Given the description of an element on the screen output the (x, y) to click on. 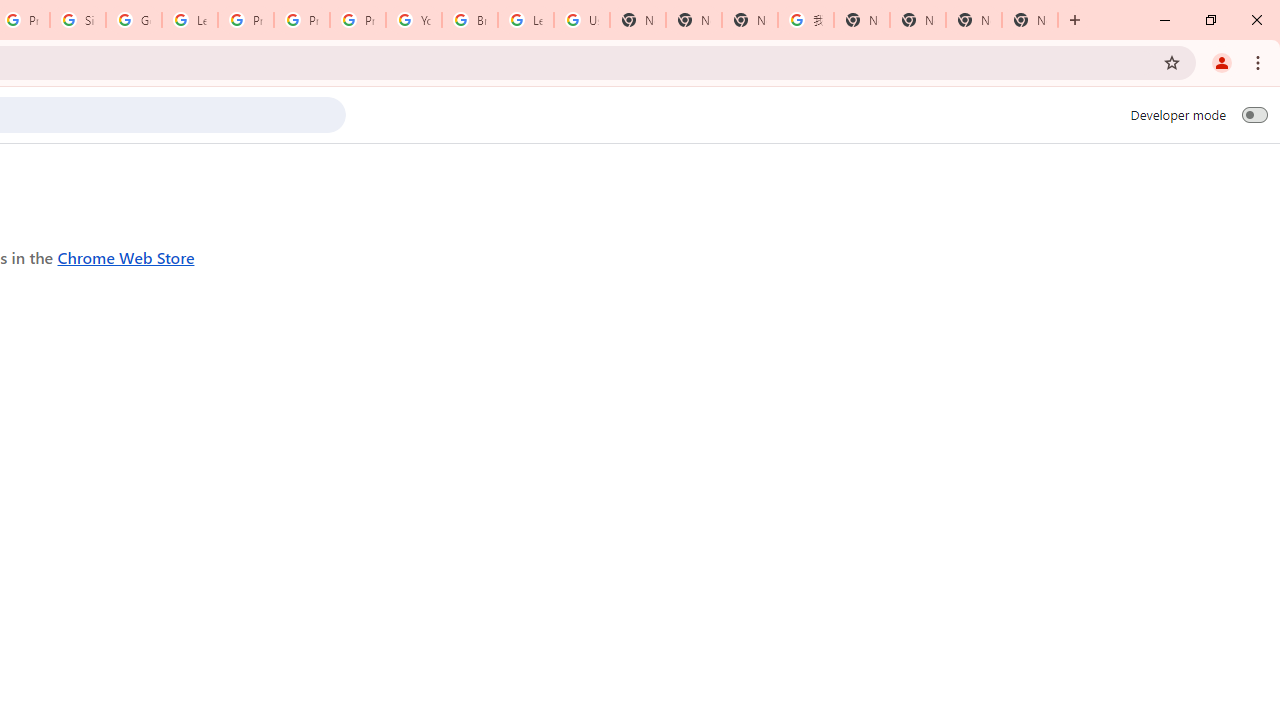
YouTube (413, 20)
Developer mode (1254, 114)
